Given the description of an element on the screen output the (x, y) to click on. 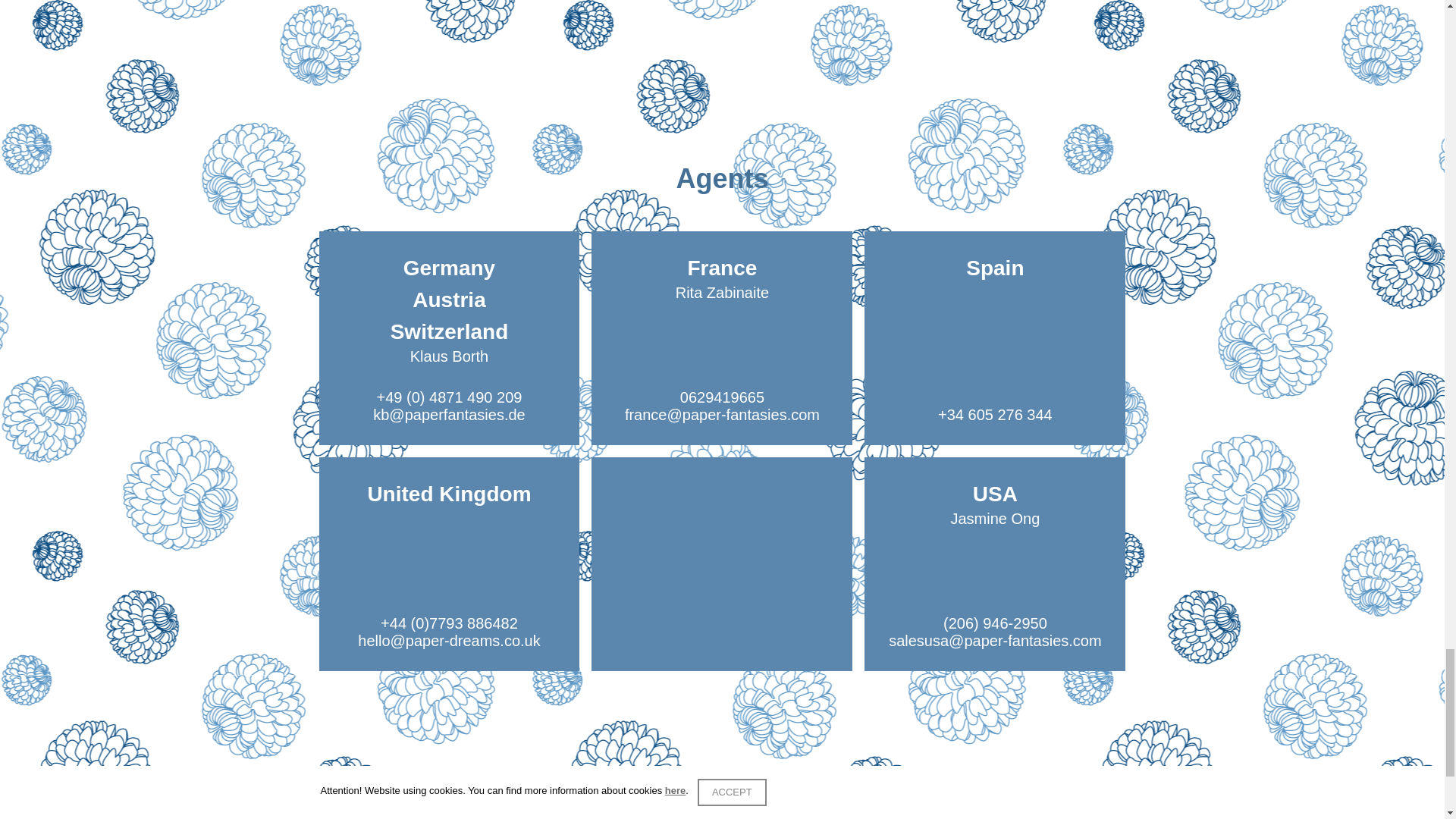
0629419665 (721, 397)
